Given the description of an element on the screen output the (x, y) to click on. 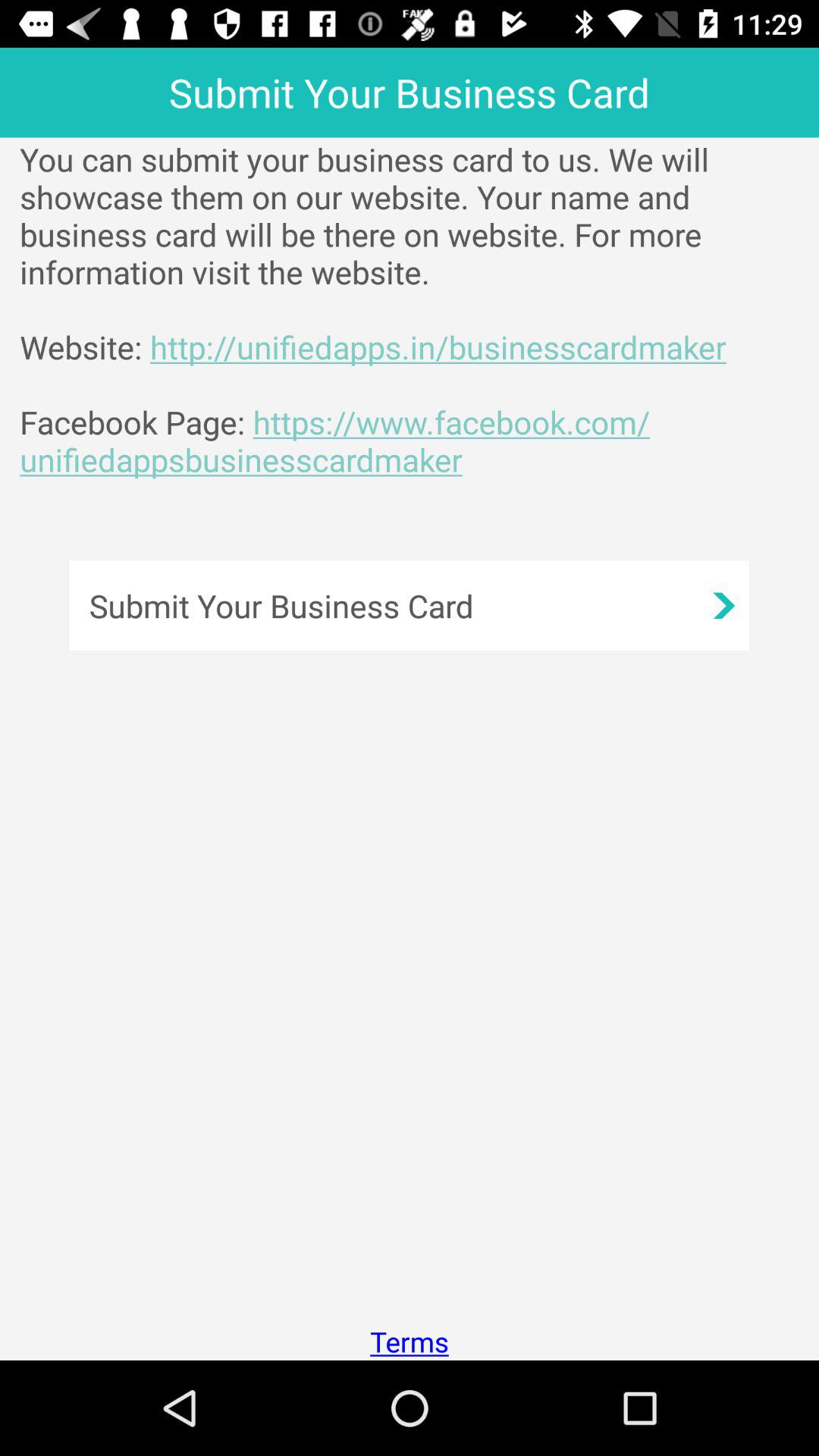
tap terms (409, 1341)
